Given the description of an element on the screen output the (x, y) to click on. 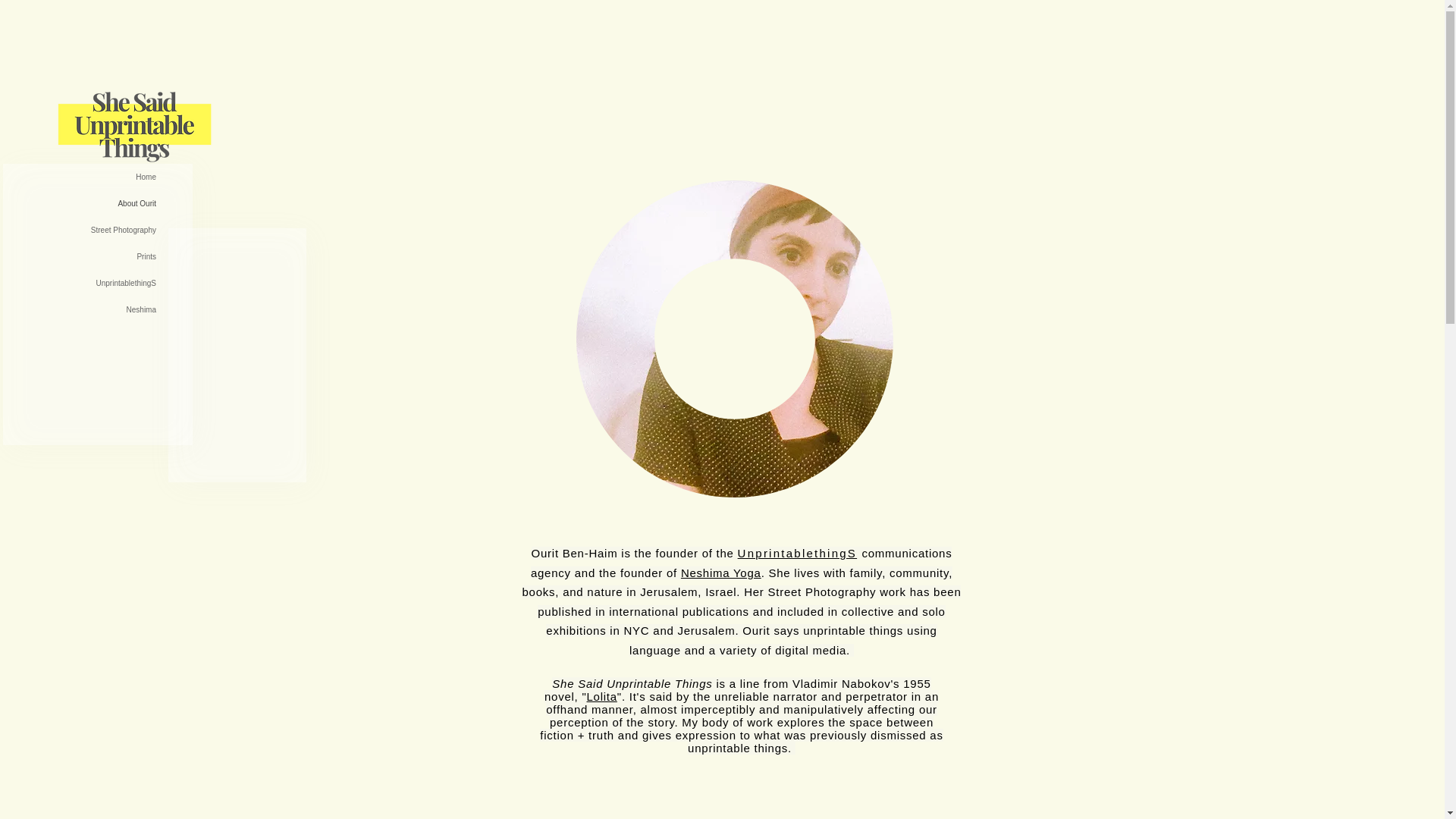
Lolita (601, 696)
Prints (78, 256)
Home (78, 176)
UnprintablethingS (78, 283)
UnprintablethingS (797, 553)
Neshima Yoga (721, 571)
Neshima (78, 309)
